Given the description of an element on the screen output the (x, y) to click on. 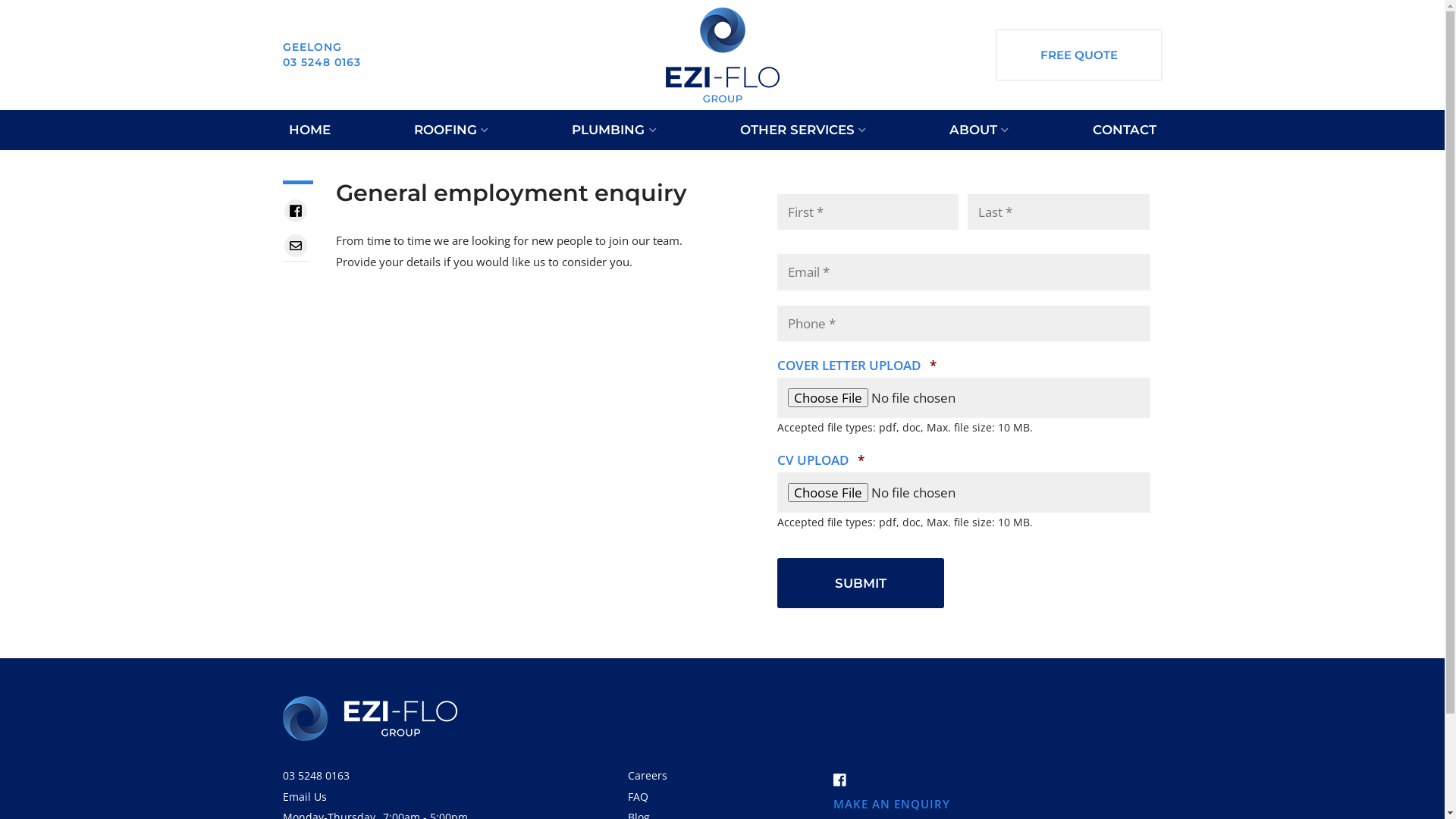
FREE QUOTE Element type: text (1077, 54)
PLUMBING Element type: text (613, 129)
Submit Element type: text (860, 583)
ABOUT Element type: text (978, 129)
CONTACT Element type: text (1123, 129)
Careers Element type: text (647, 775)
Email Us Element type: text (378, 796)
MAKE AN ENQUIRY Element type: text (890, 803)
ROOFING Element type: text (450, 129)
HOME Element type: text (308, 129)
OTHER SERVICES Element type: text (803, 129)
FAQ Element type: text (637, 796)
03 5248 0163 Element type: text (378, 775)
